Given the description of an element on the screen output the (x, y) to click on. 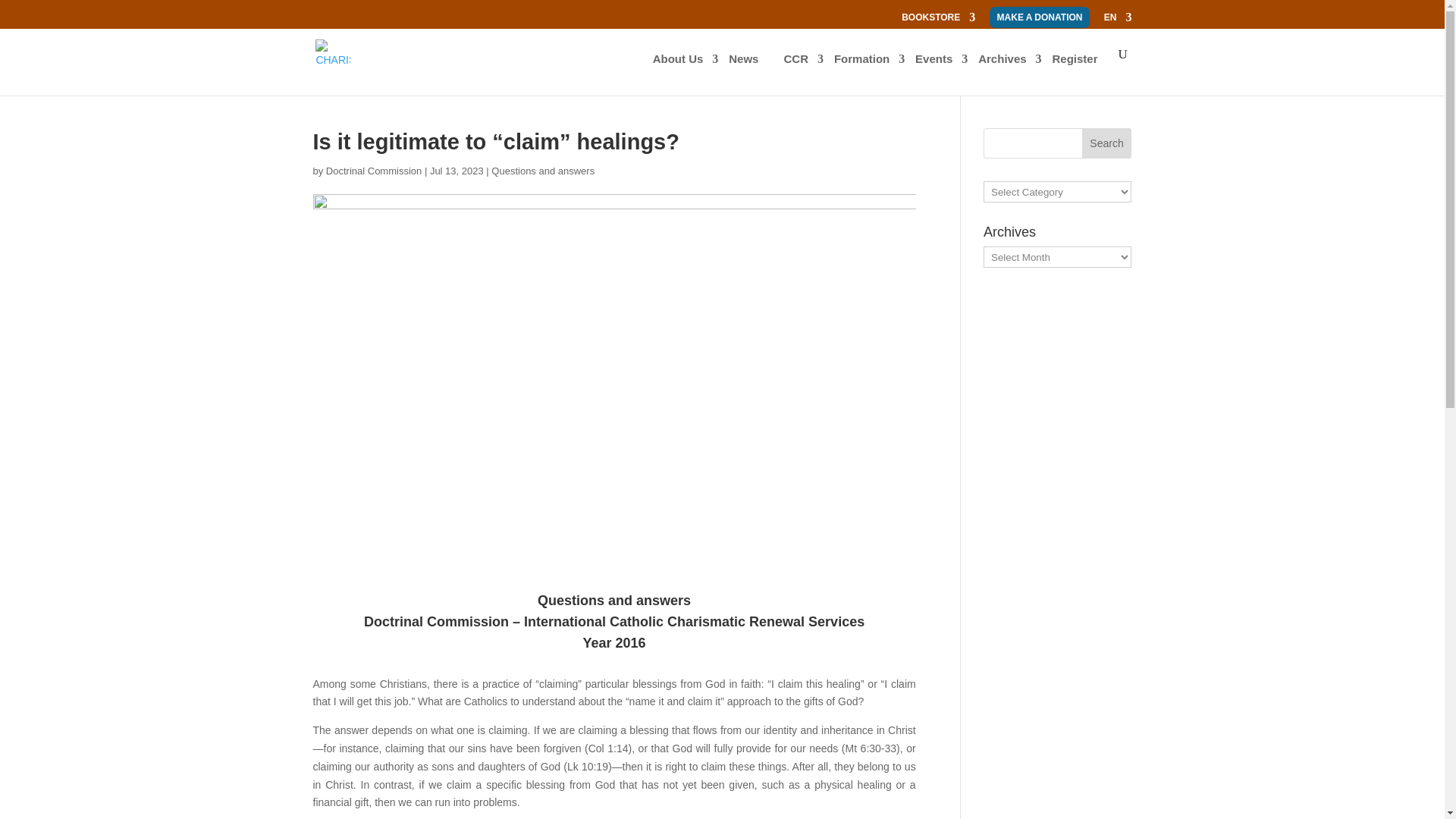
BOOKSTORE (938, 20)
Events (941, 71)
News (751, 71)
Page 1 (614, 738)
Page 1 (614, 747)
About Us (685, 71)
Search (1106, 142)
EN (1117, 20)
Formation (869, 71)
Page 1 (614, 747)
MAKE A DONATION (1040, 16)
CCR (803, 71)
Posts by Doctrinal Commission (374, 170)
